Given the description of an element on the screen output the (x, y) to click on. 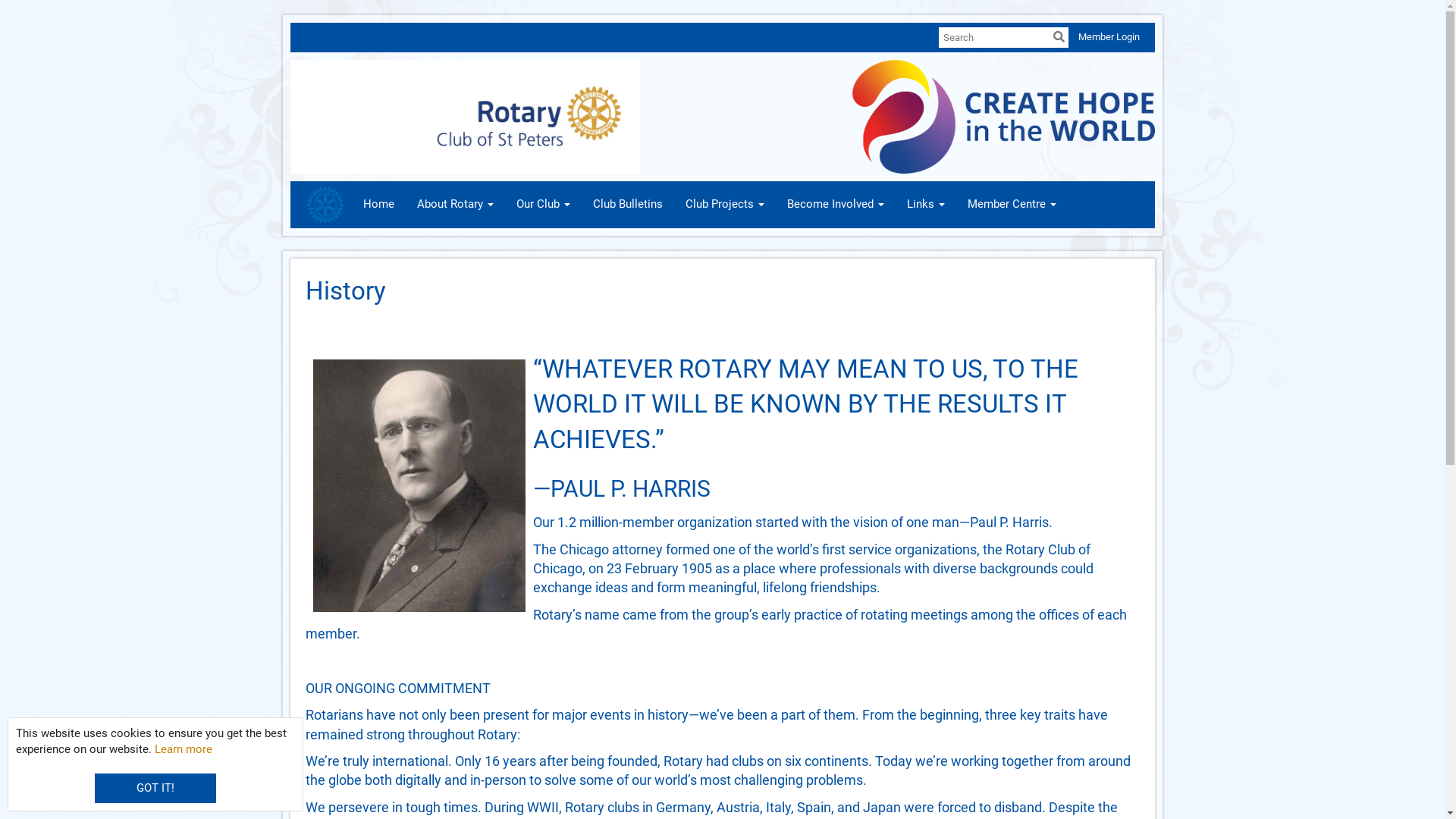
Club Projects Element type: text (724, 204)
Become Involved Element type: text (834, 204)
Member Login Element type: text (1108, 36)
Links Element type: text (924, 204)
GOT IT! Element type: text (155, 788)
Our Club Element type: text (543, 204)
Member Centre Element type: text (1010, 204)
Learn more Element type: text (183, 749)
Club Bulletins Element type: text (626, 204)
Home Element type: text (378, 204)
About Rotary Element type: text (454, 204)
